Given the description of an element on the screen output the (x, y) to click on. 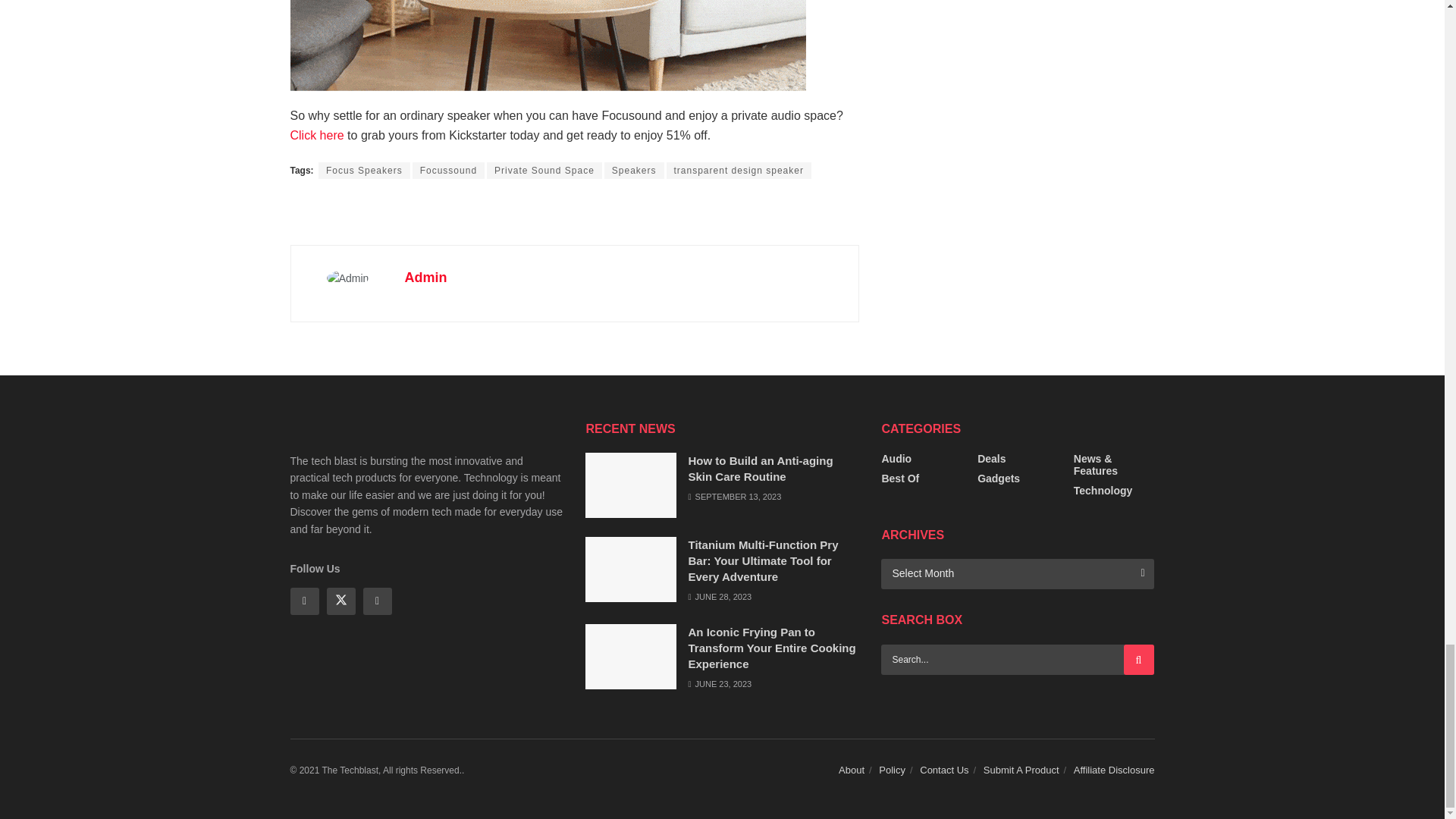
Focussound (448, 170)
Speakers (633, 170)
Click here (316, 134)
Focus Speakers (364, 170)
Admin (425, 277)
Private Sound Space (544, 170)
transparent design speaker (738, 170)
